Given the description of an element on the screen output the (x, y) to click on. 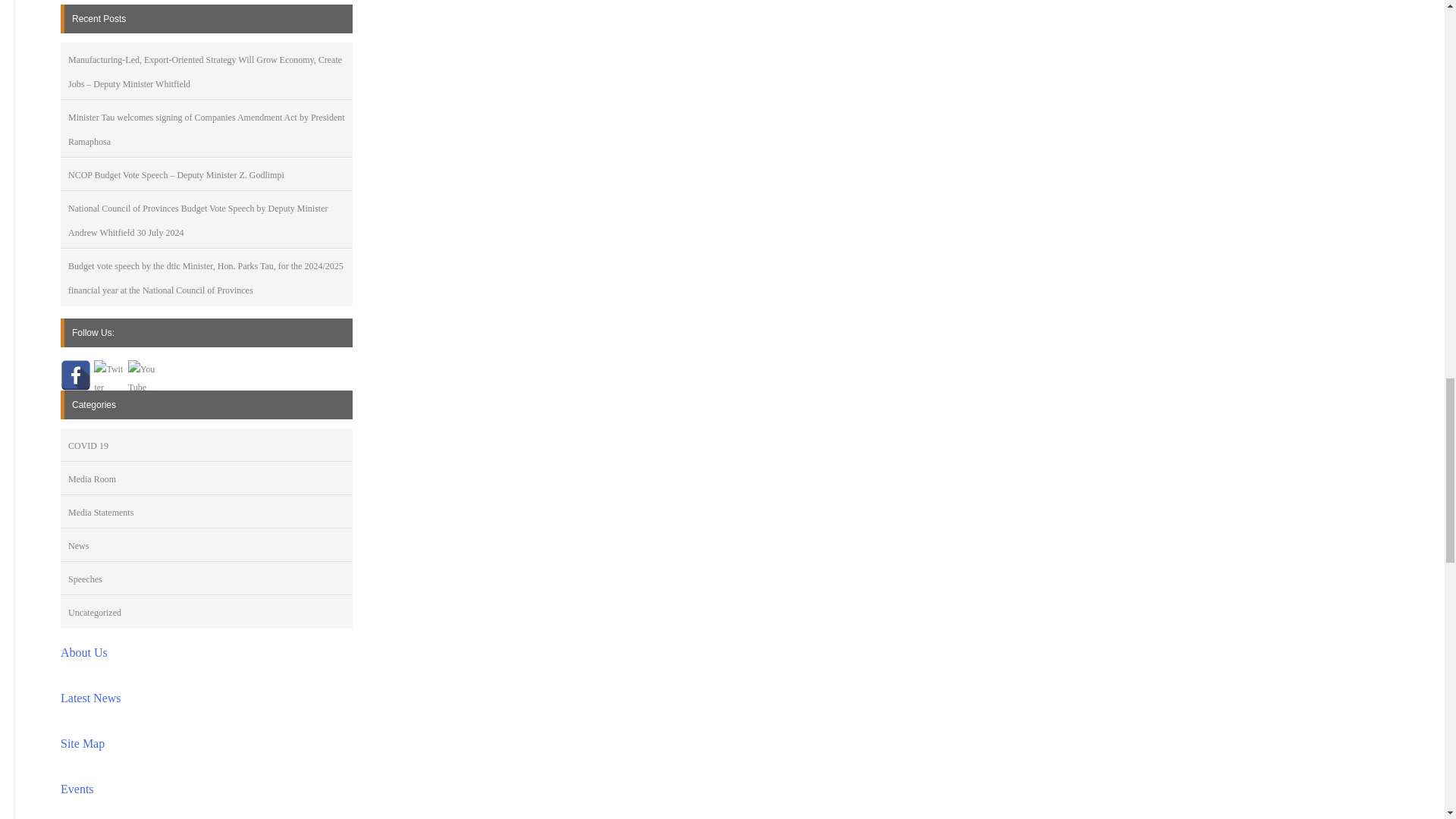
YouTube (143, 375)
Twitter (108, 375)
Facebook (75, 375)
